Given the description of an element on the screen output the (x, y) to click on. 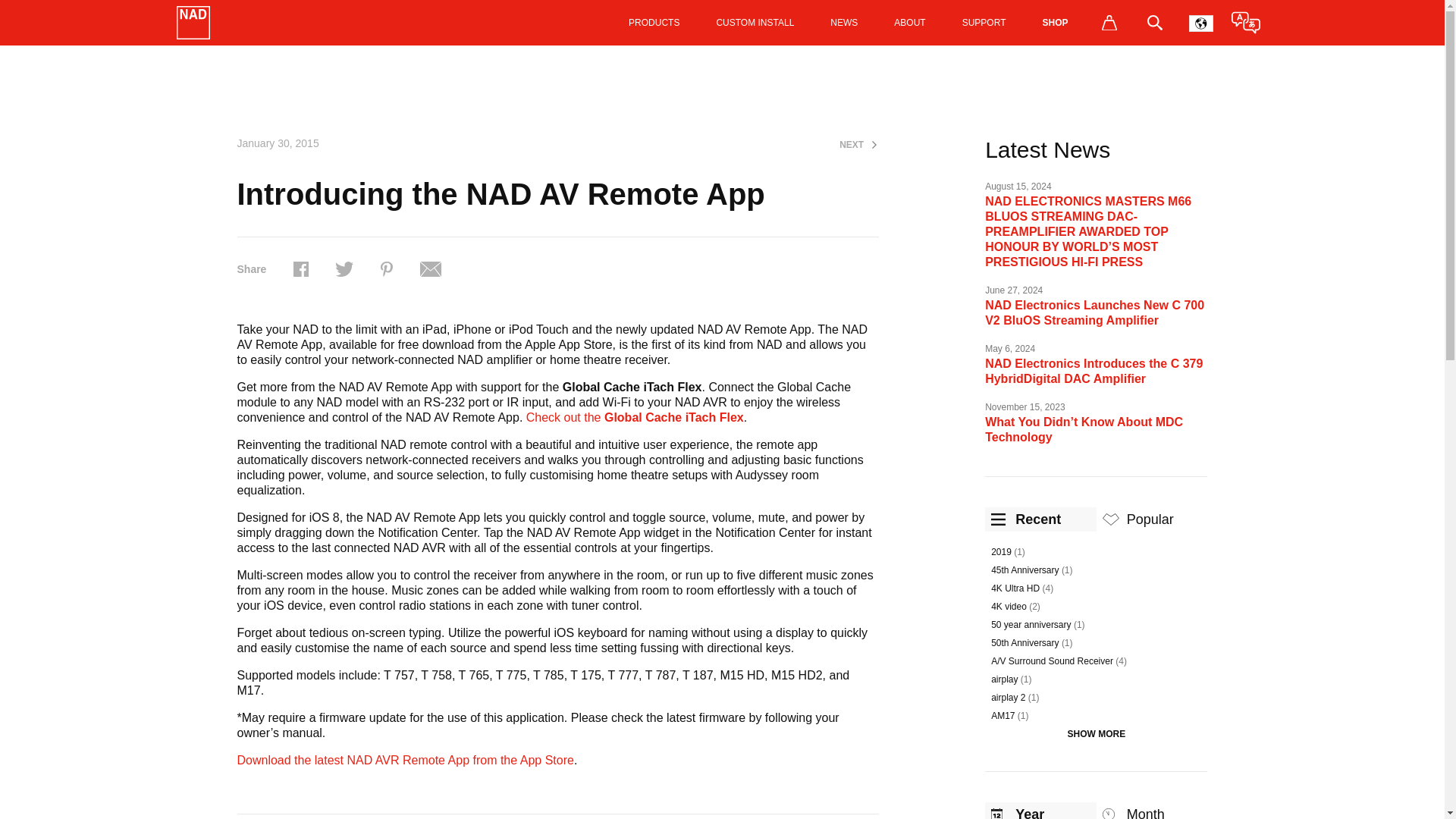
SUPPORT (984, 22)
SHOP (1054, 22)
Show region options (1199, 22)
CUSTOM INSTALL (754, 22)
Open search (1153, 22)
NEWS (844, 22)
PRODUCTS (653, 22)
ABOUT (909, 22)
Choose language (1245, 22)
